Given the description of an element on the screen output the (x, y) to click on. 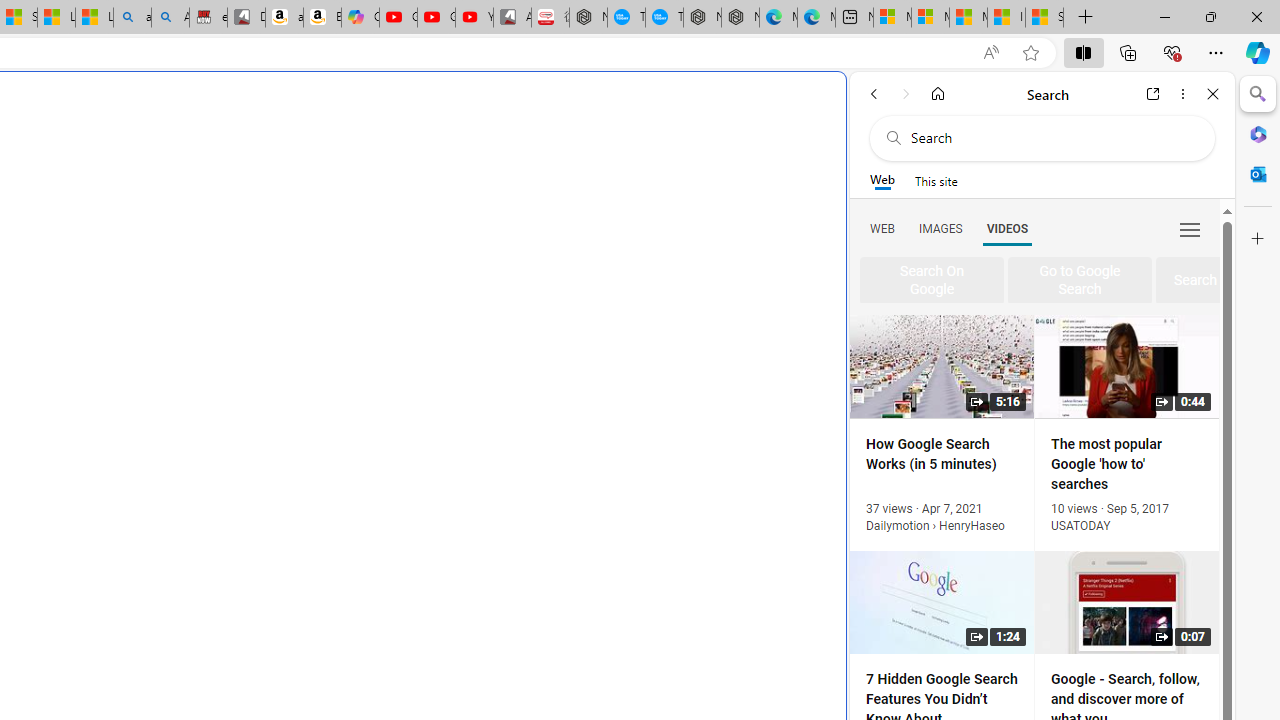
Search Filter, IMAGES (939, 228)
amazon.in/dp/B0CX59H5W7/?tag=gsmcom05-21 (284, 17)
VIDEOS (1007, 228)
Forward (906, 93)
VIDEOS   (1007, 228)
Web scope (882, 180)
